Given the description of an element on the screen output the (x, y) to click on. 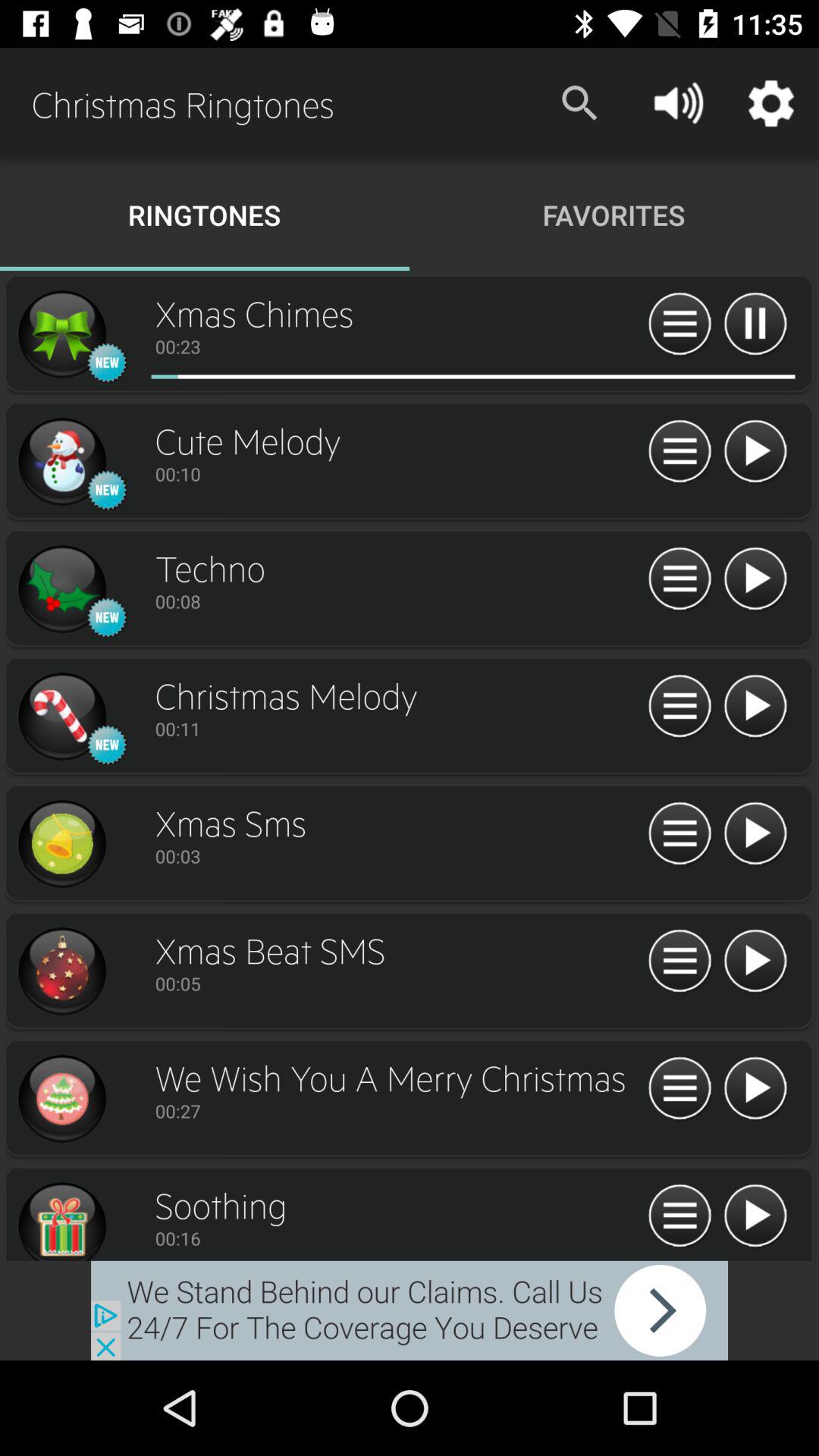
play option (755, 579)
